Given the description of an element on the screen output the (x, y) to click on. 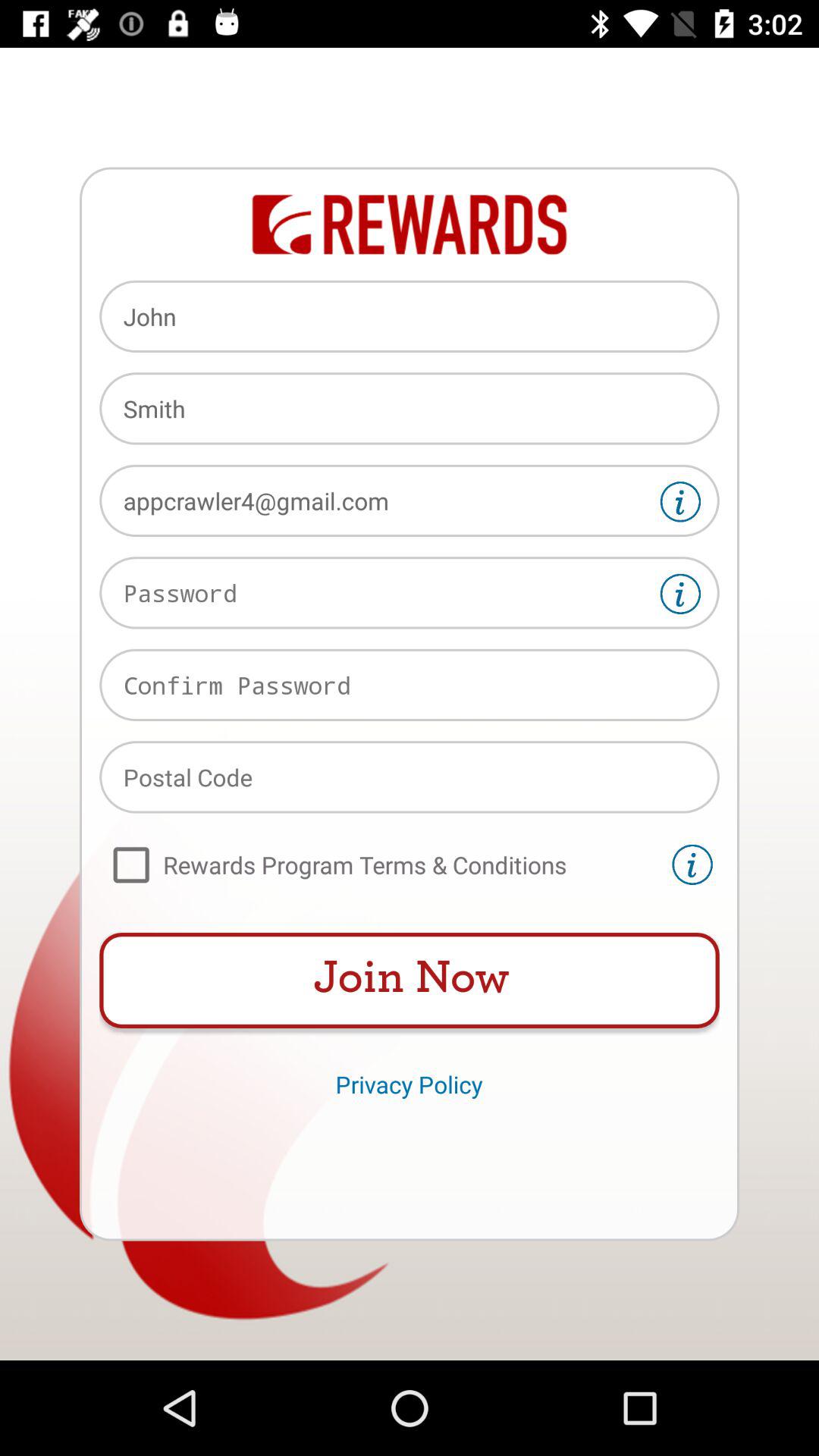
turn on join now (409, 980)
